Given the description of an element on the screen output the (x, y) to click on. 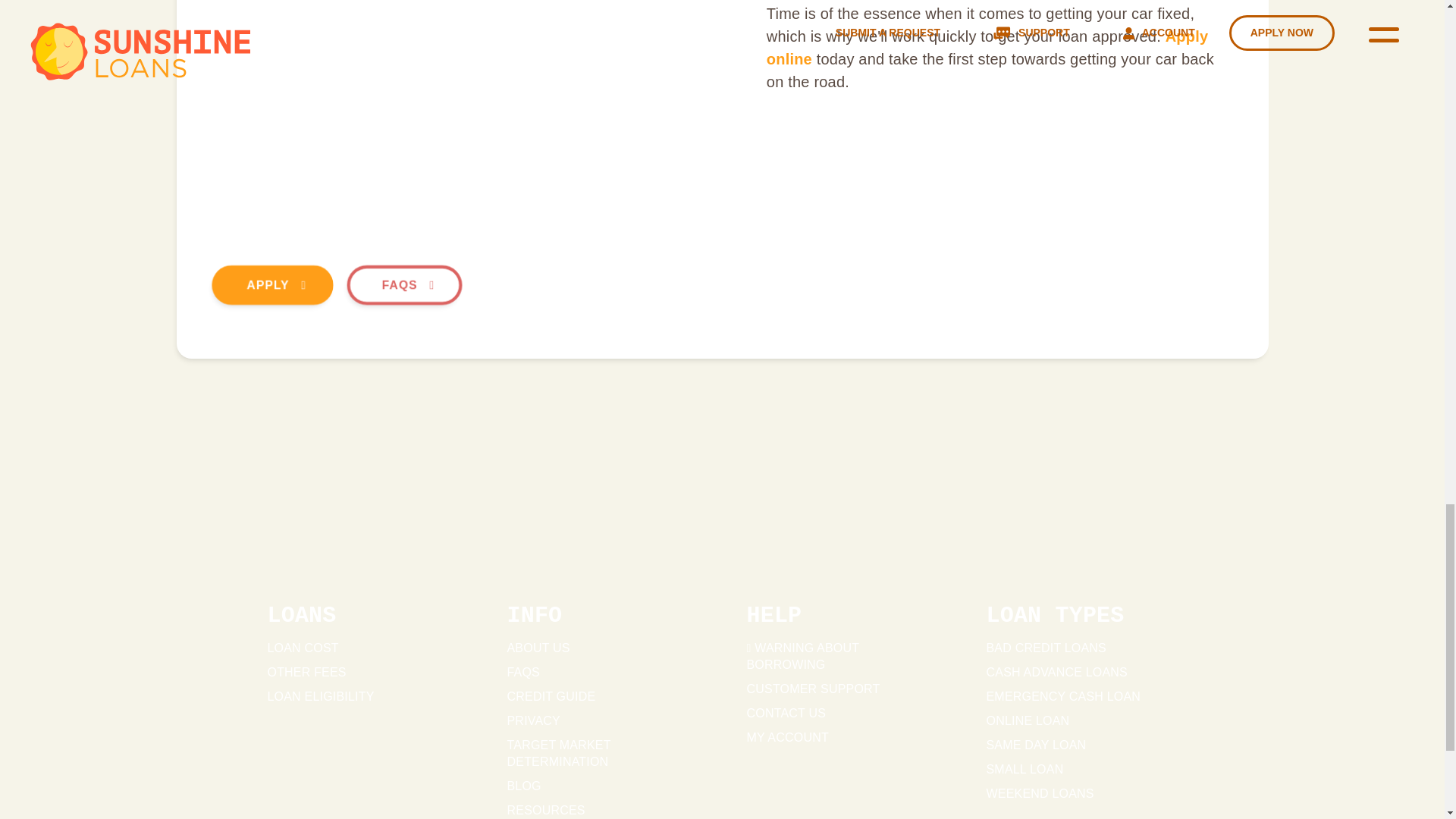
CREDIT GUIDE (550, 696)
LOAN ELIGIBILITY (320, 696)
WARNING ABOUT BORROWING (802, 655)
ABOUT US (537, 647)
FAQS (402, 284)
BLOG (523, 785)
CONTACT US (785, 712)
FAQS (522, 671)
APPLY (270, 284)
CUSTOMER SUPPORT (812, 688)
PRIVACY (532, 720)
Apply online (987, 47)
TARGET MARKET DETERMINATION (558, 753)
OTHER FEES (306, 671)
LOAN COST (301, 647)
